Given the description of an element on the screen output the (x, y) to click on. 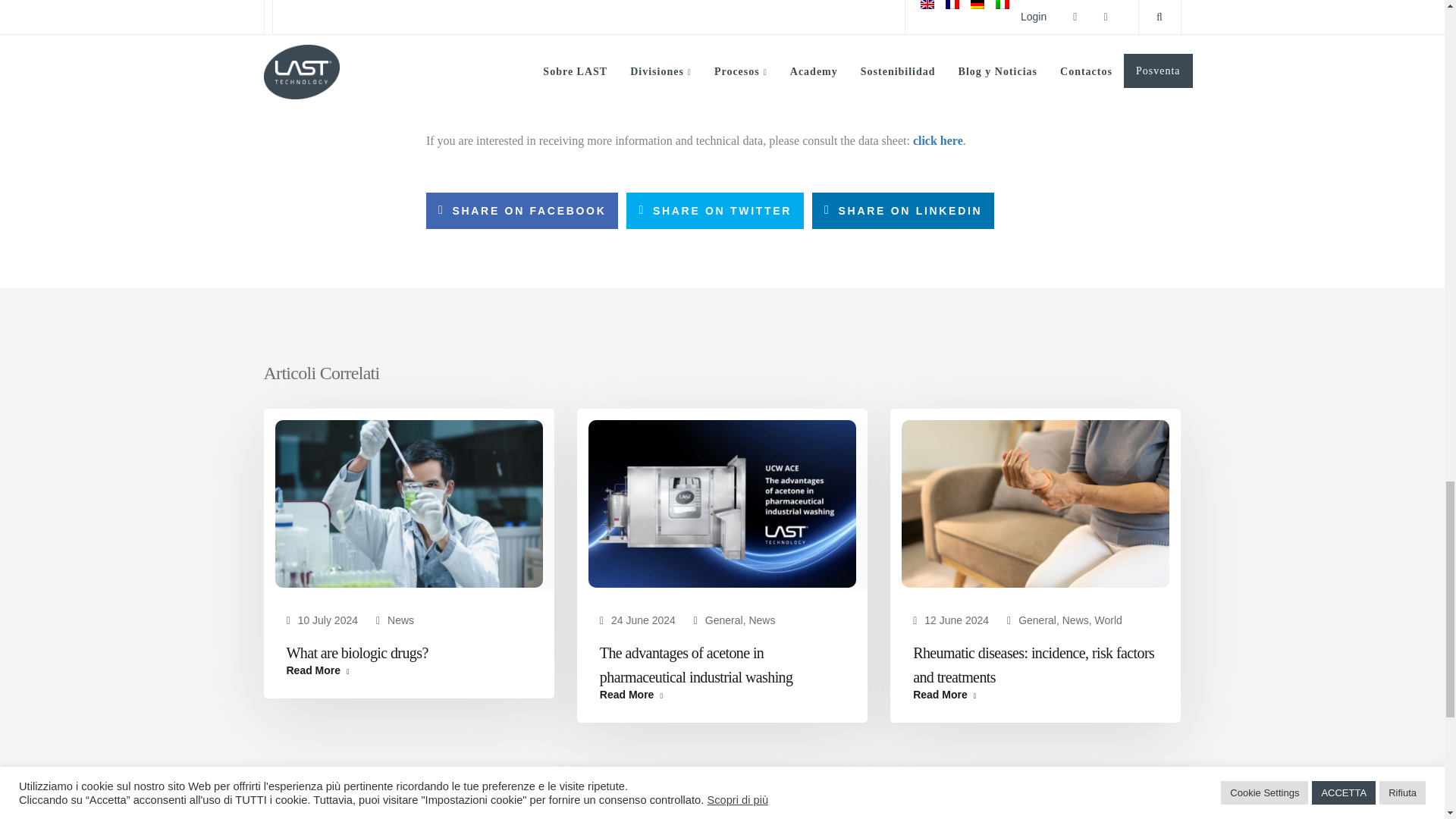
SHARE ON LINKEDIN (903, 210)
SHARE ON TWITTER (714, 210)
News (400, 620)
SHARE ON FACEBOOK (522, 210)
click here (936, 140)
